Given the description of an element on the screen output the (x, y) to click on. 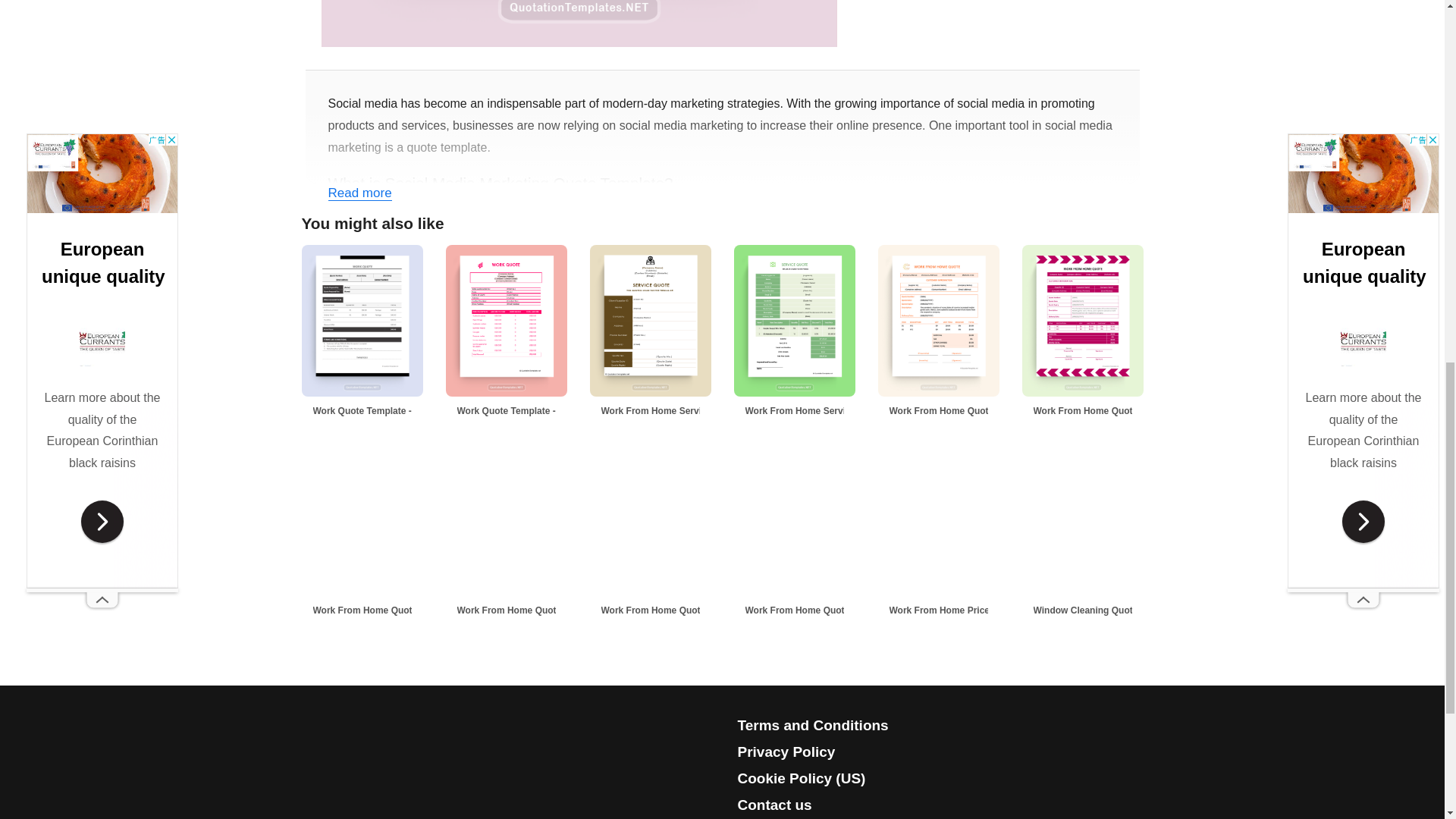
Work From Home Quote Template - 220920 - GRY (534, 610)
Work From Home Quote Template - GRN - 220915 (678, 610)
Work From Home Quote Template - DGRN - 220915 (822, 610)
Work From Home Quote Template - ORG (966, 410)
Work Quote Template - BLK (372, 410)
Work From Home Quote Template - BLK (390, 610)
Window Cleaning Quote Template - RED (1110, 610)
Work From Home Quote Template - MGA (1110, 410)
Work Quote Template - 220920 - PNK (534, 410)
Work From Home Service Quote Template - DBRN - 220923 (678, 410)
Scroll back to top (1406, 720)
Work From Home Service Quote Template - 220921 - GRN (822, 410)
Work From Home Price Quote Template - 220922 - BRN (966, 610)
